Given the description of an element on the screen output the (x, y) to click on. 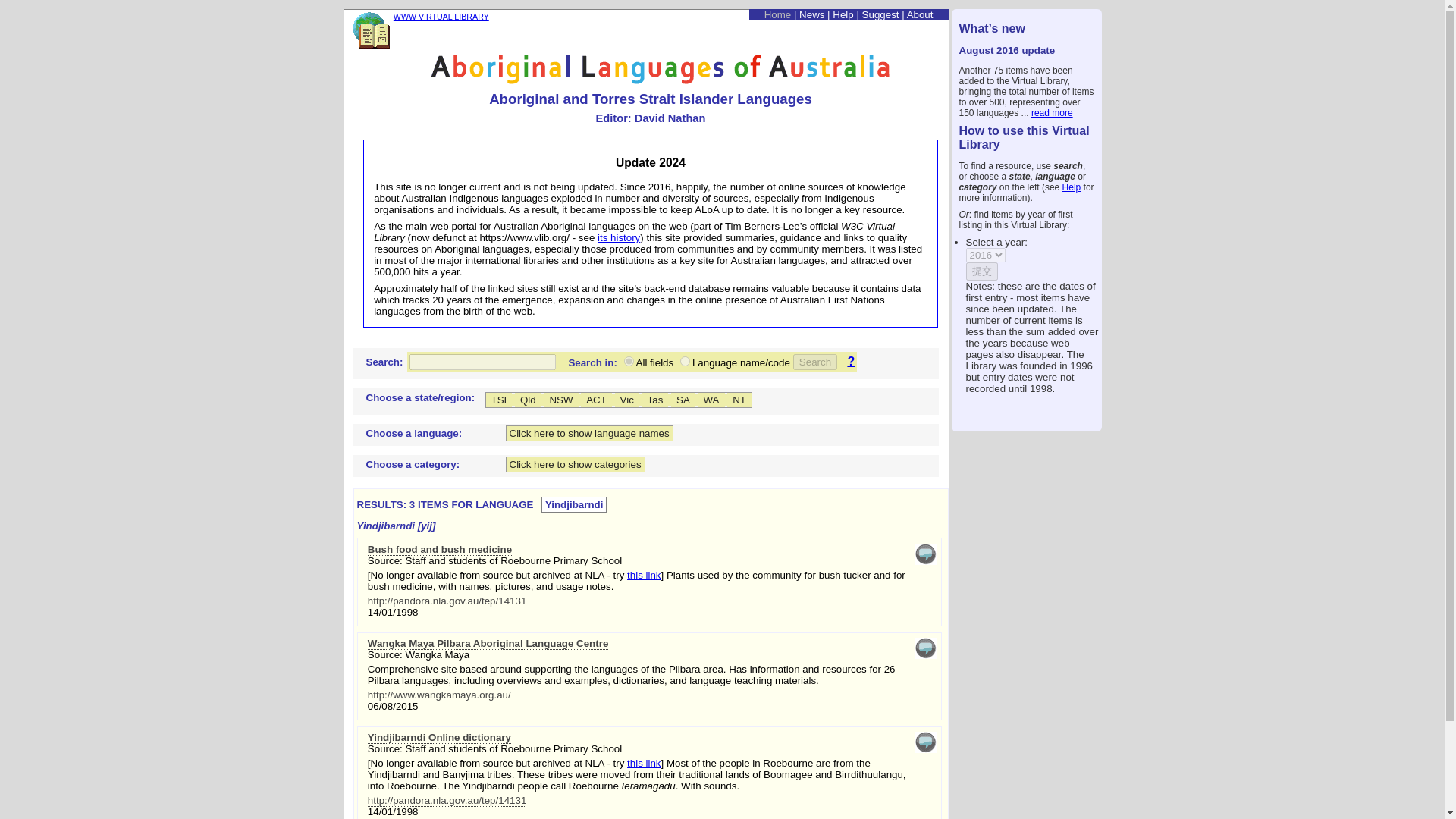
Help (1071, 186)
Help (842, 14)
Home (778, 14)
Resource will open in another tab or window (439, 695)
Update or give feedback on this item (925, 655)
Vic (626, 400)
SA (683, 400)
language (684, 361)
ACT (595, 400)
Search (815, 361)
